Given the description of an element on the screen output the (x, y) to click on. 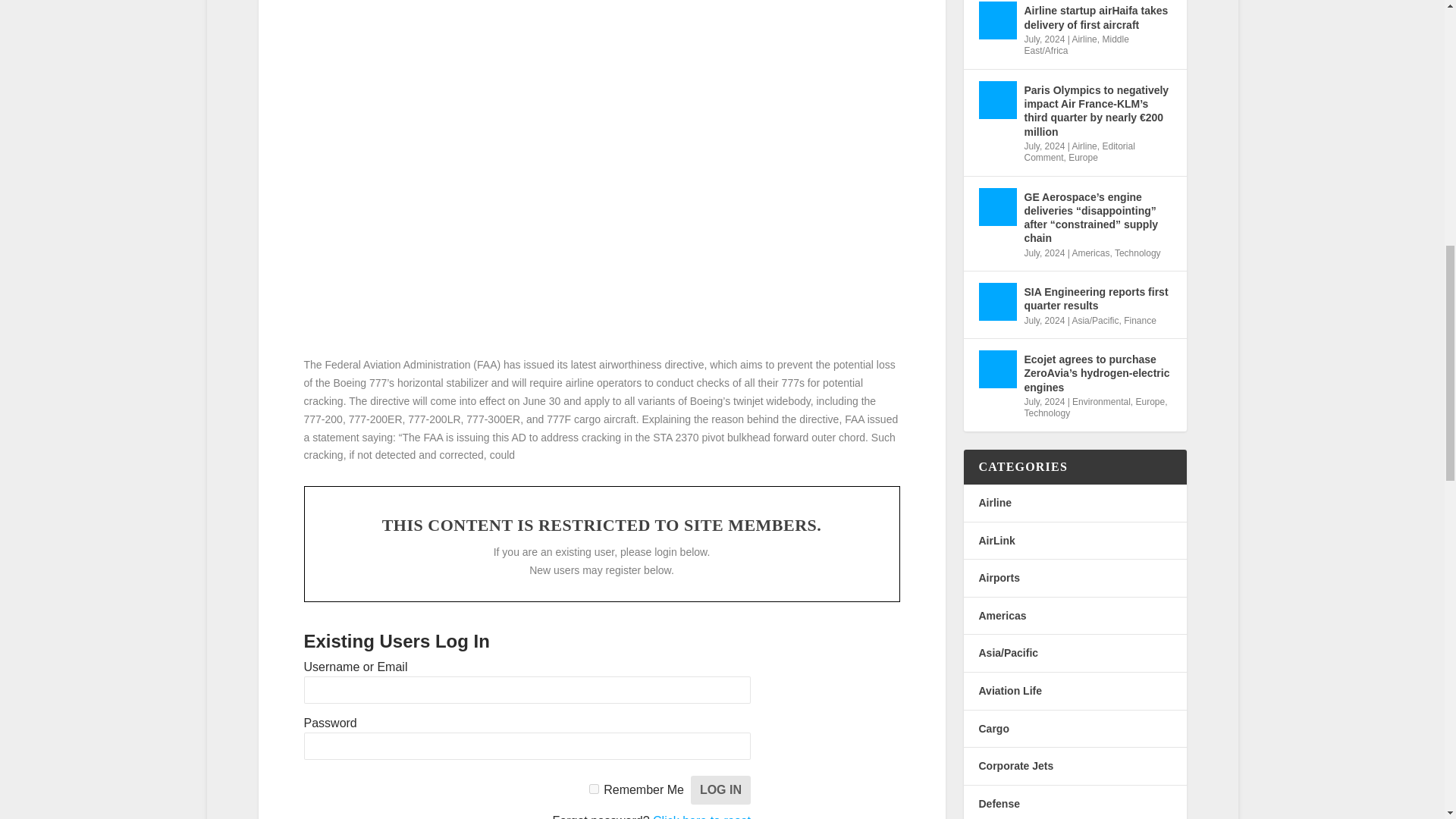
SIA Engineering reports first quarter results (997, 301)
Log In (720, 789)
forever (593, 788)
